Given the description of an element on the screen output the (x, y) to click on. 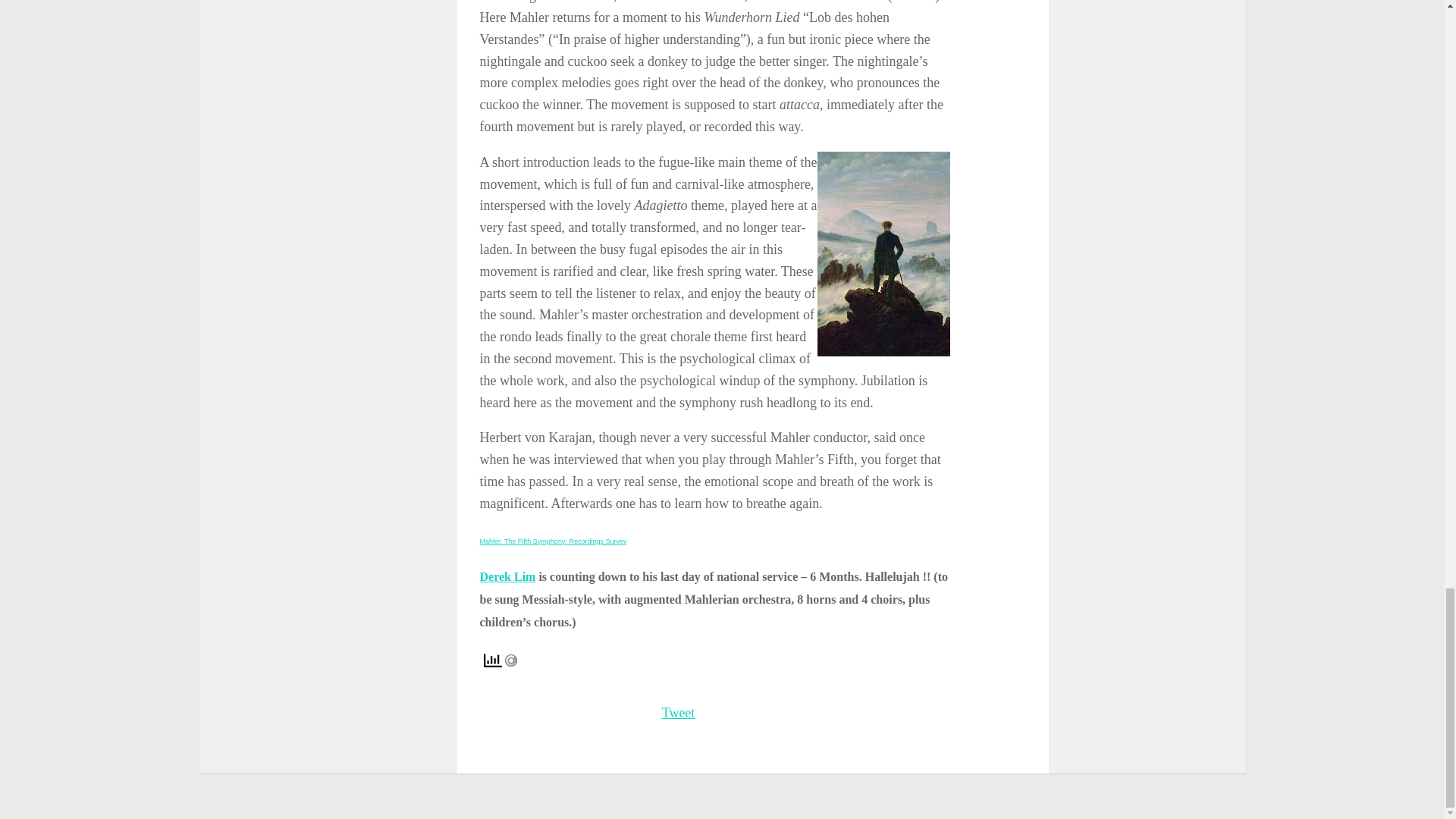
Mahler: The Fifth Symphony: Recordings Survey (552, 541)
Tweet (678, 712)
Derek Lim (507, 576)
